Given the description of an element on the screen output the (x, y) to click on. 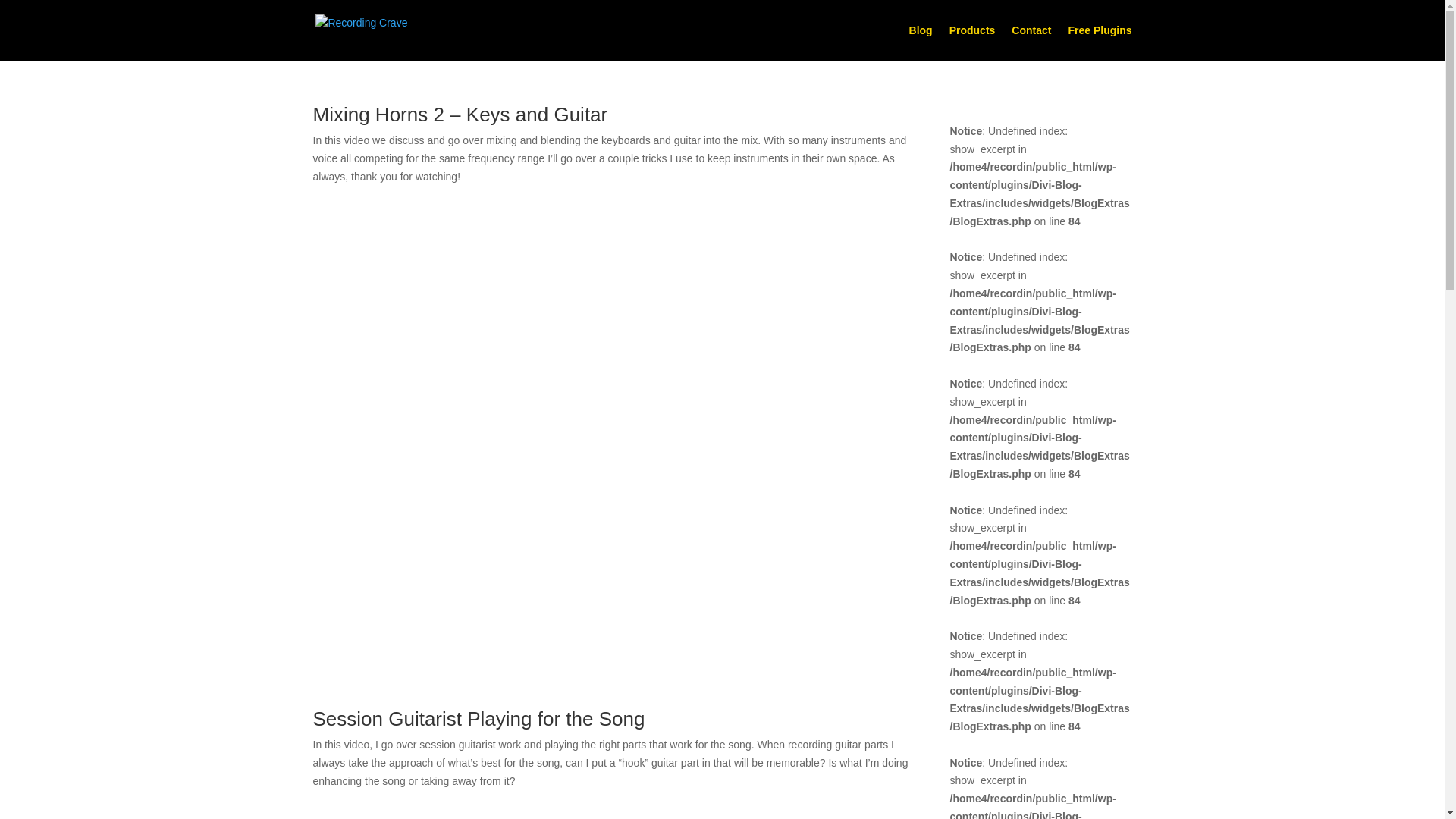
Products (972, 42)
Free Plugins (1099, 42)
Session Guitarist Playing for the Song (479, 718)
Contact (1031, 42)
